Given the description of an element on the screen output the (x, y) to click on. 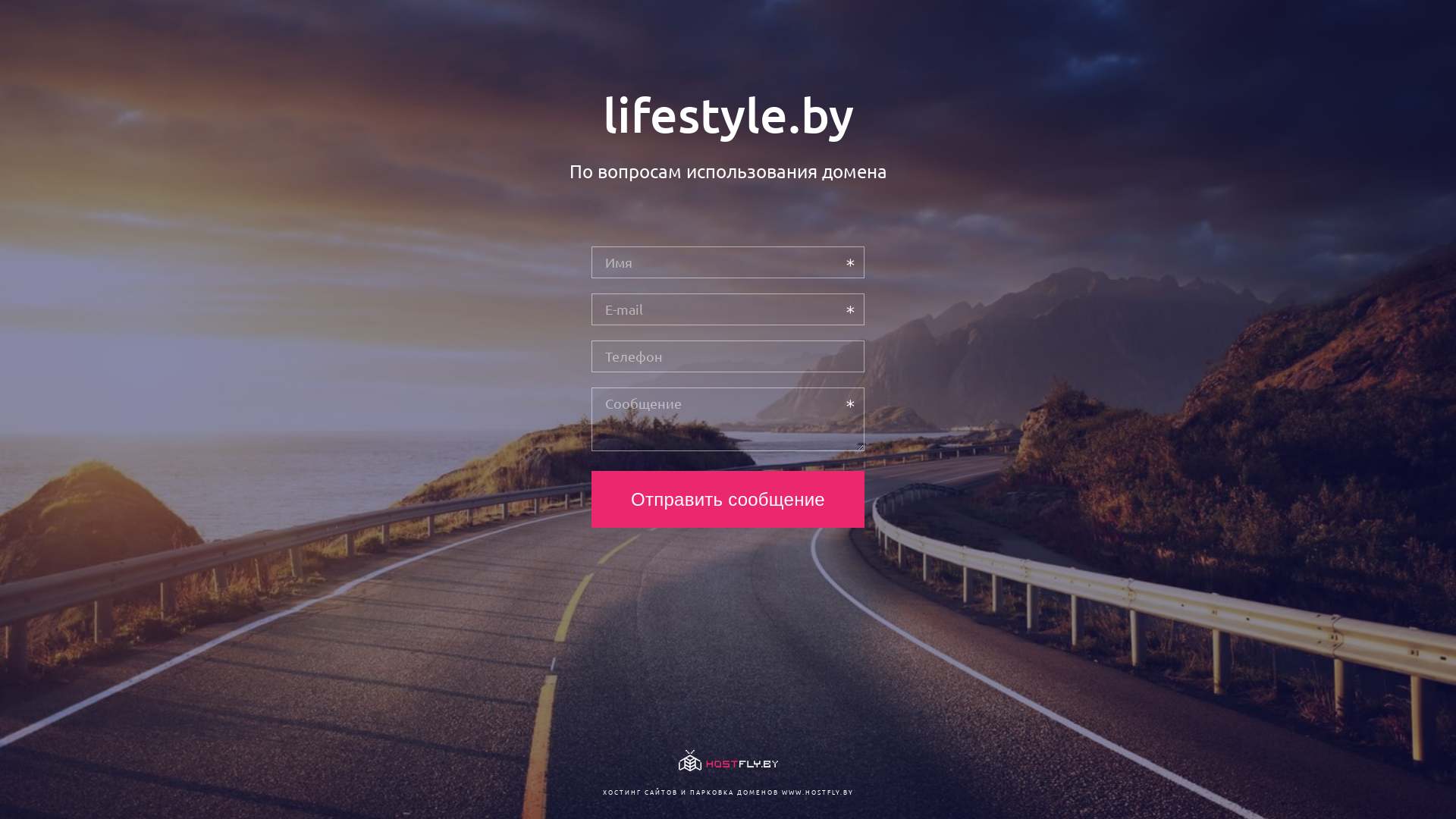
WWW.HOSTFLY.BY Element type: text (817, 791)
